Given the description of an element on the screen output the (x, y) to click on. 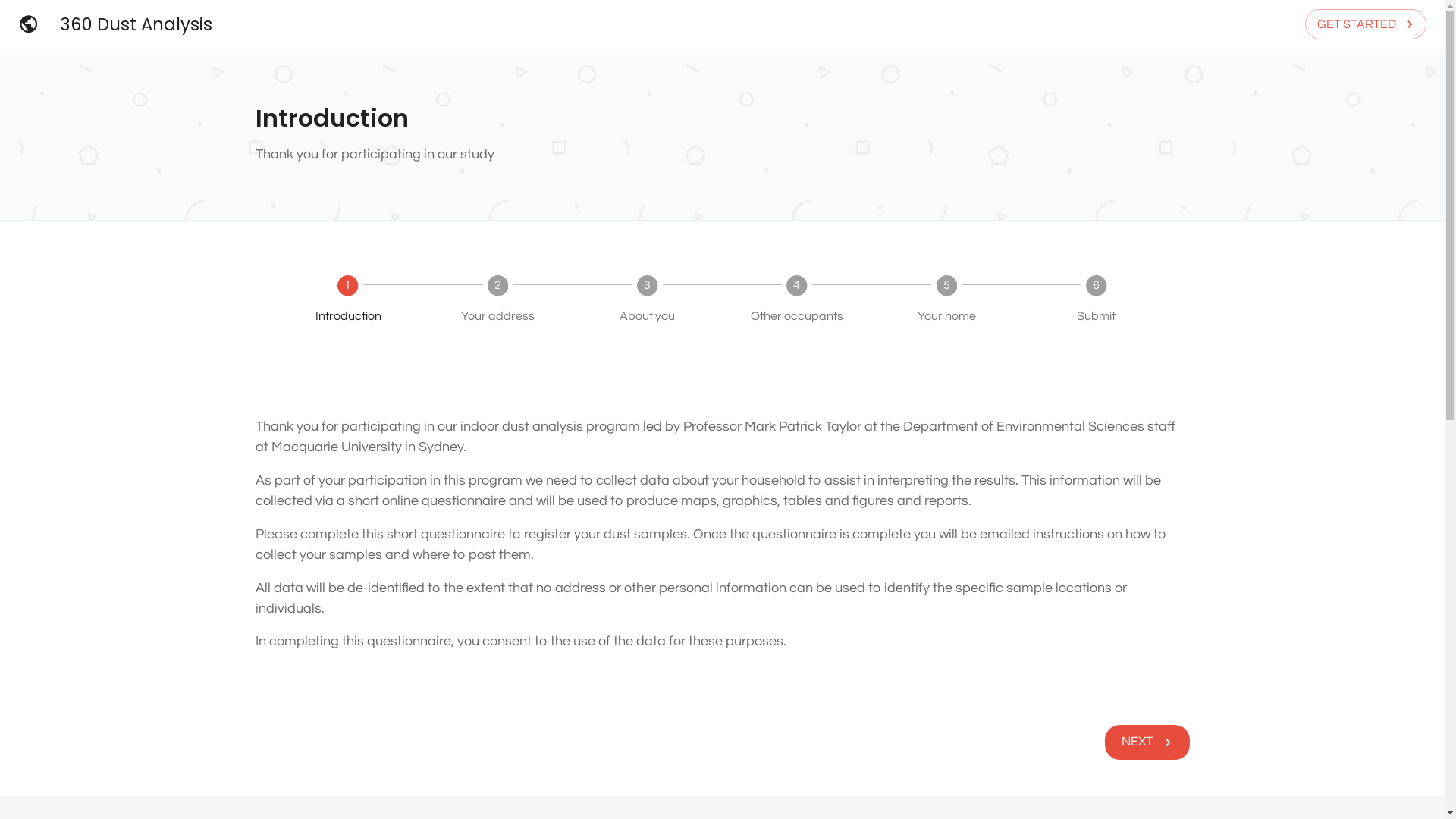
NEXT Element type: text (1146, 741)
GET STARTED Element type: text (1365, 24)
